Given the description of an element on the screen output the (x, y) to click on. 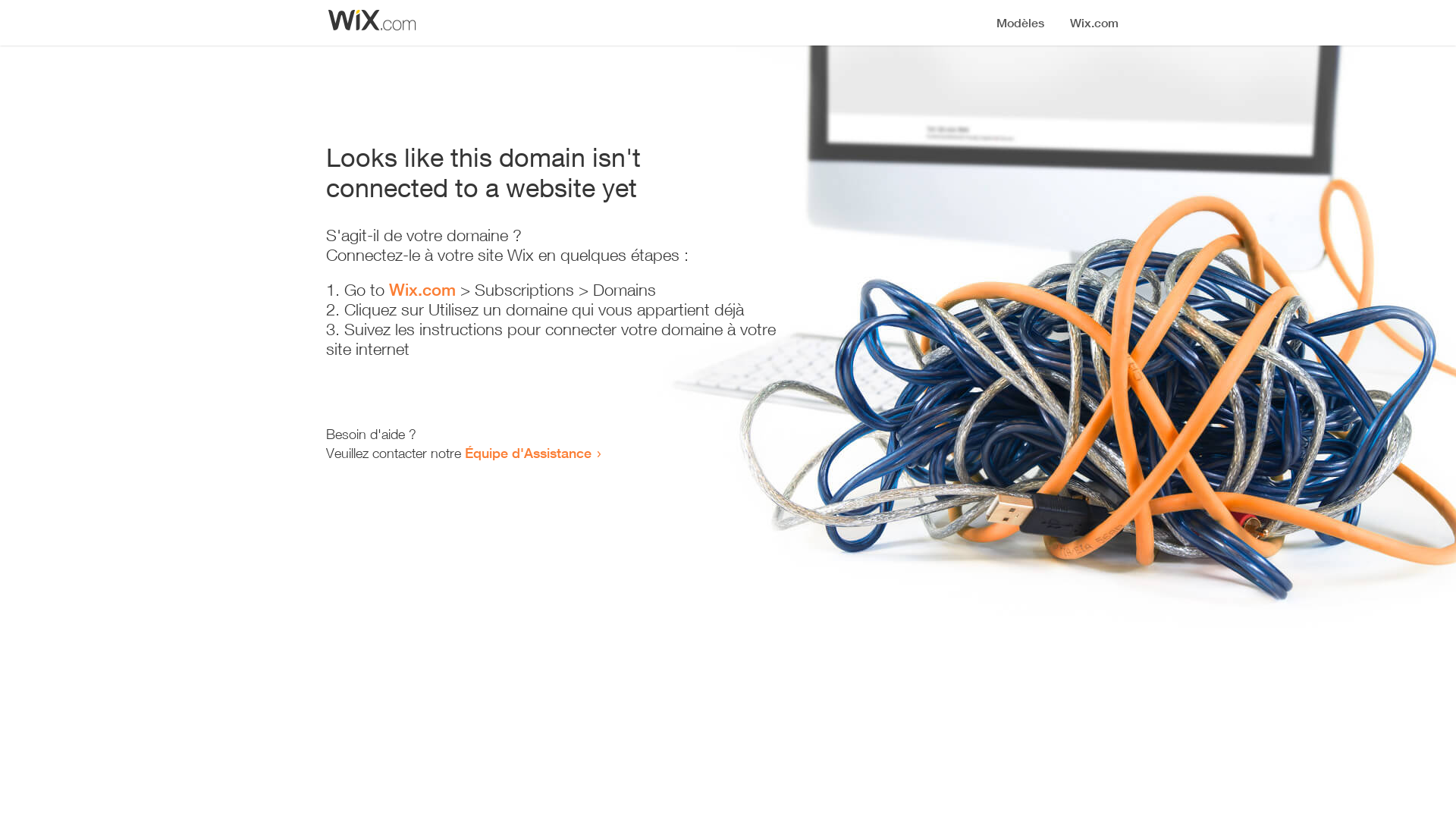
Wix.com Element type: text (422, 289)
